Given the description of an element on the screen output the (x, y) to click on. 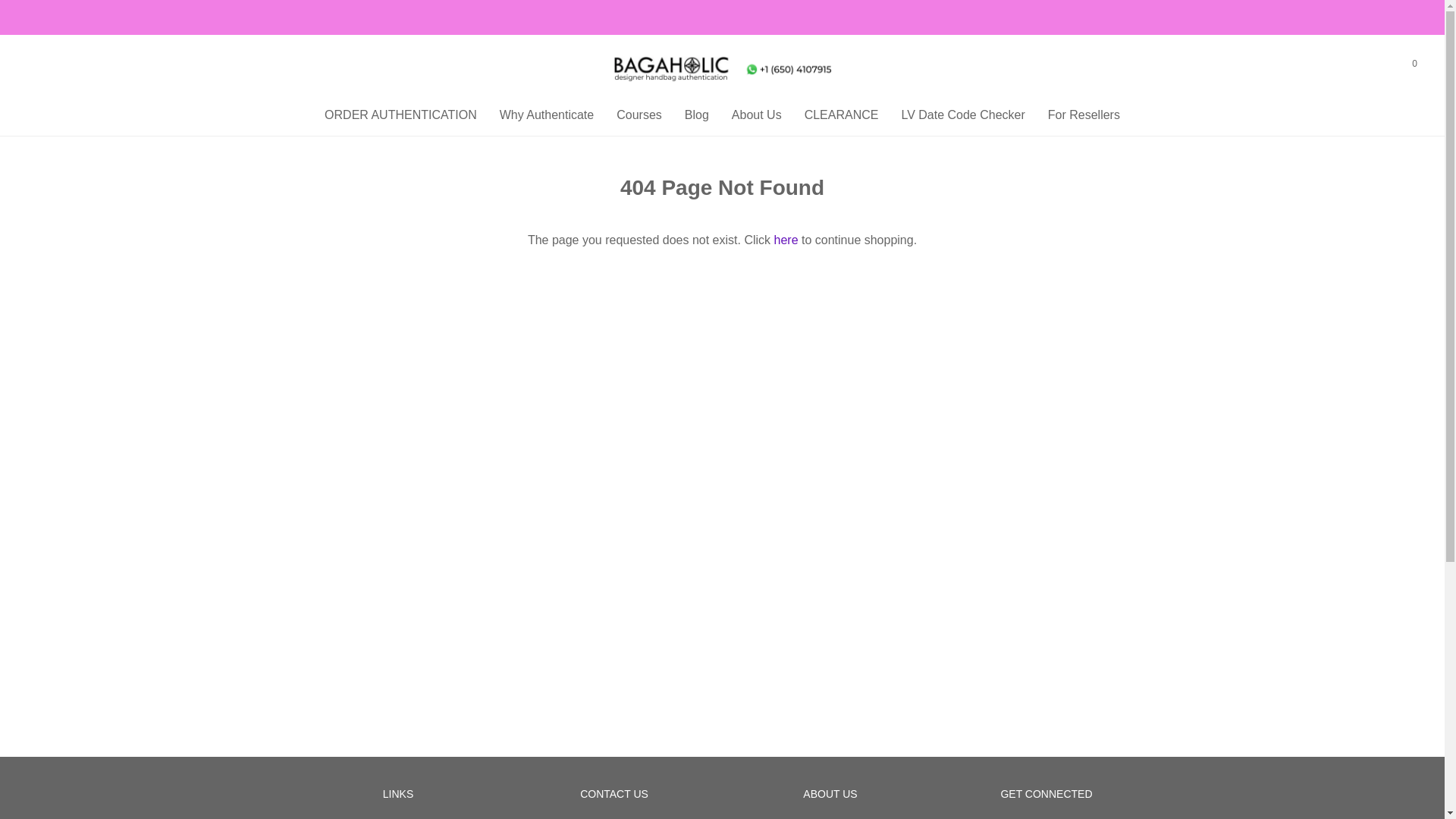
Cart (1413, 64)
0 (1413, 64)
ORDER AUTHENTICATION (400, 115)
Why Authenticate (546, 115)
Courses (638, 115)
